Given the description of an element on the screen output the (x, y) to click on. 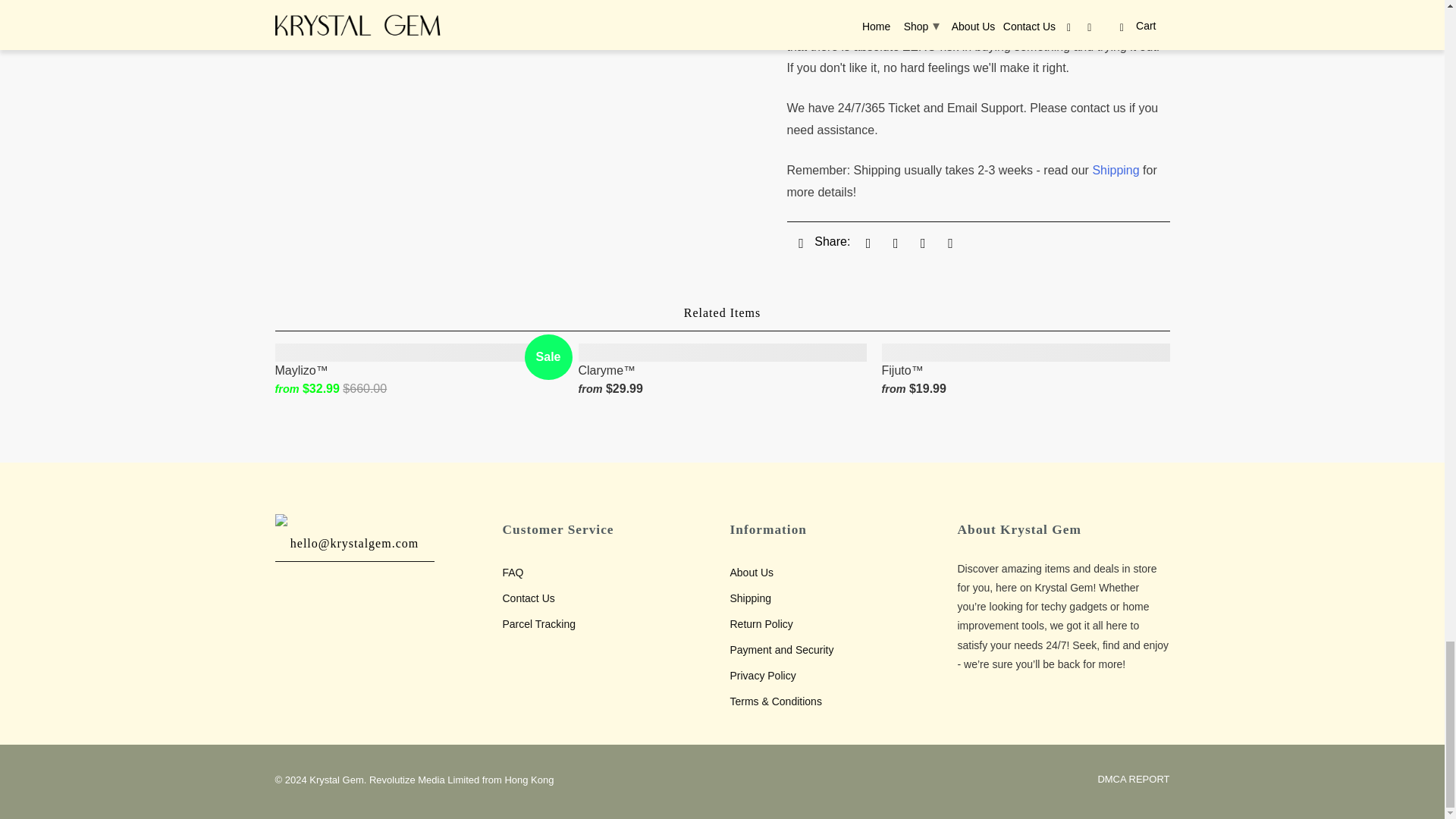
Shipping  (1117, 169)
Share this on Twitter (865, 242)
Share this on Facebook (892, 242)
Share this on Pinterest (920, 242)
Email this to a friend (798, 242)
